Given the description of an element on the screen output the (x, y) to click on. 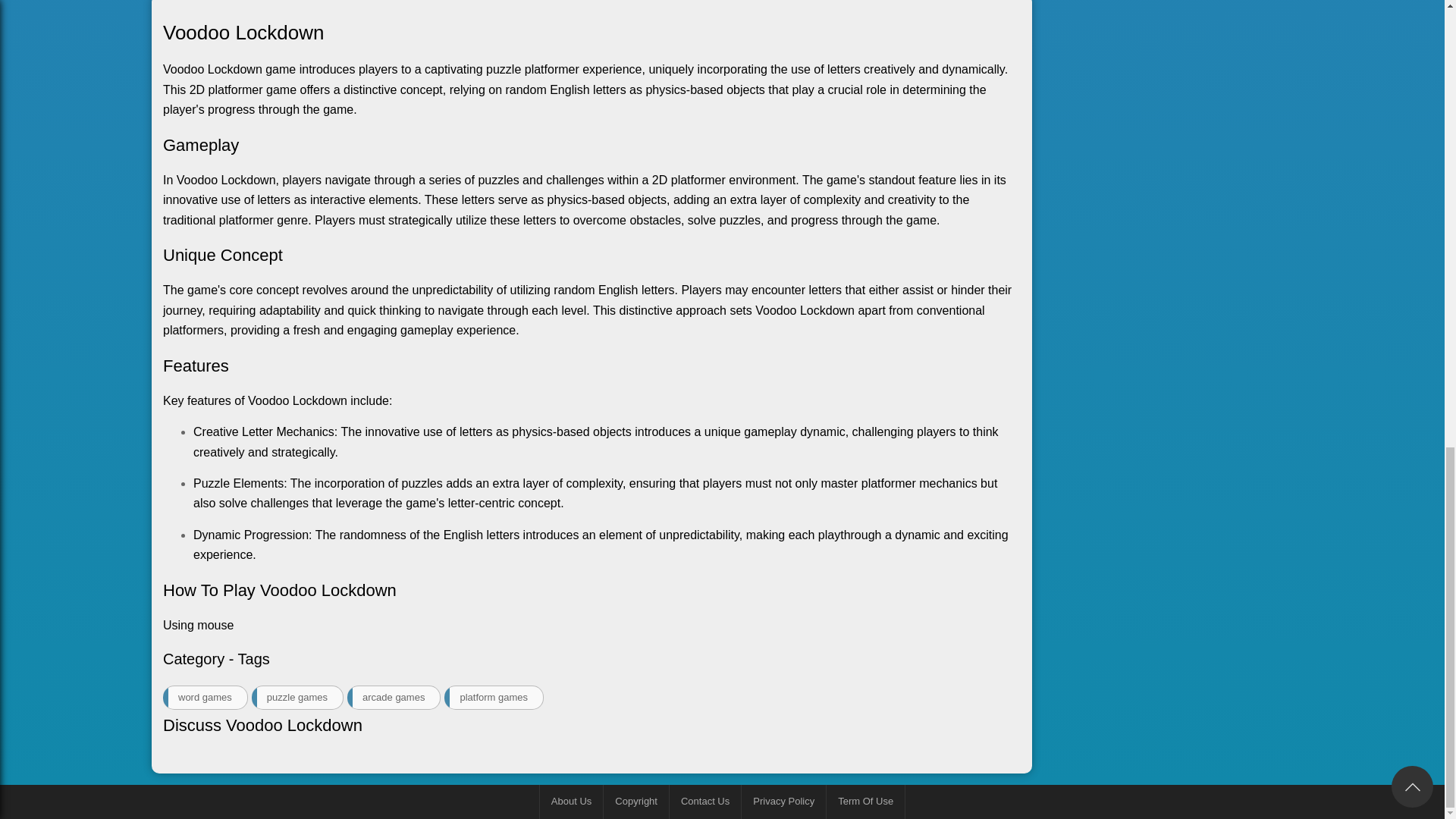
arcade games (394, 697)
word games (205, 697)
platform games (493, 697)
puzzle games (297, 697)
